Given the description of an element on the screen output the (x, y) to click on. 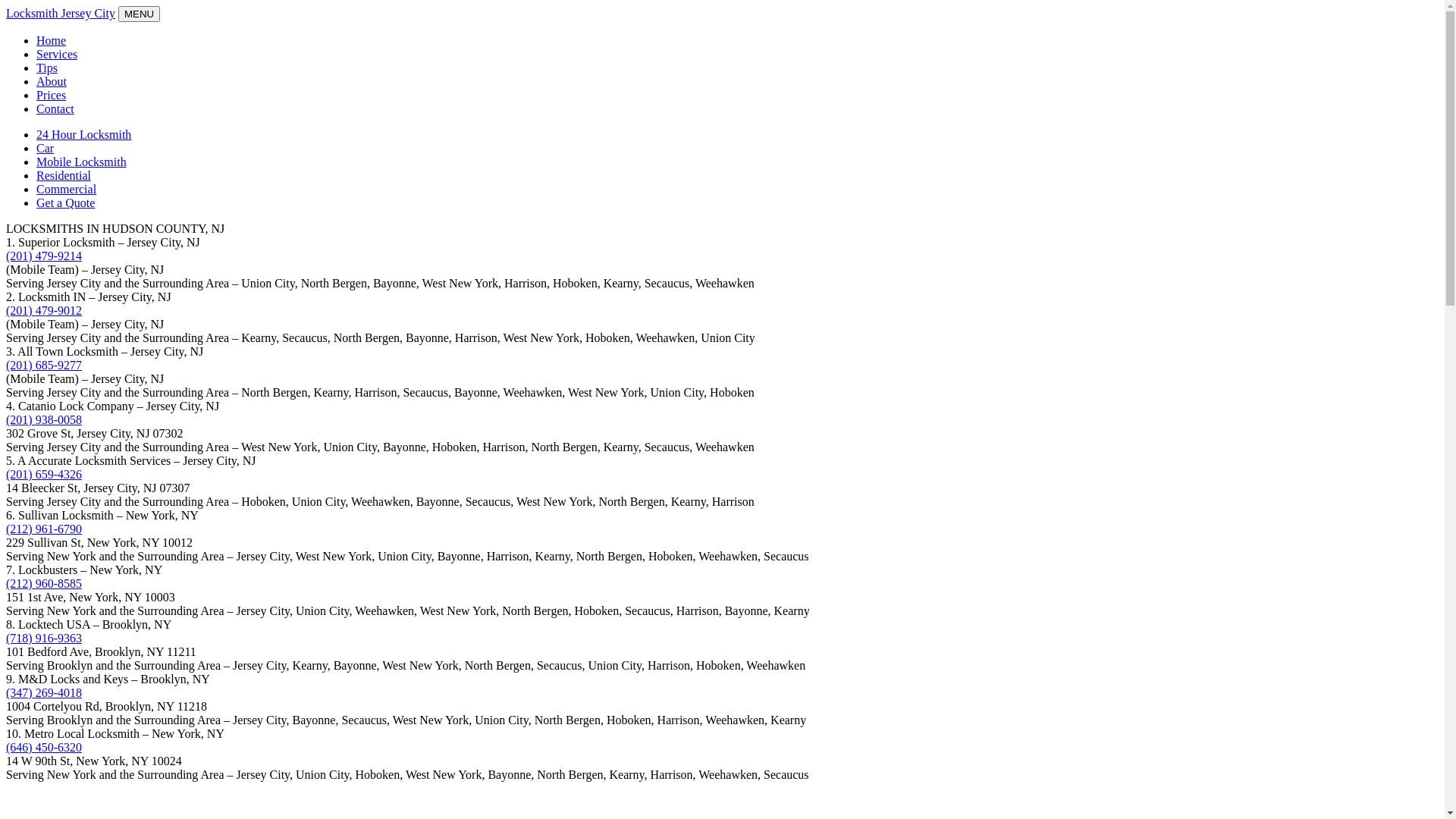
Contact Element type: text (55, 108)
Get a Quote Element type: text (65, 202)
24 Hour Locksmith Element type: text (83, 134)
Car Element type: text (44, 147)
Mobile Locksmith Element type: text (81, 161)
Commercial Element type: text (66, 188)
(201) 479-9214 Element type: text (43, 255)
Services Element type: text (56, 53)
(646) 450-6320 Element type: text (43, 746)
Prices Element type: text (50, 94)
Locksmith Jersey City Element type: text (60, 12)
(212) 960-8585 Element type: text (43, 583)
Home Element type: text (50, 40)
Residential Element type: text (63, 175)
(212) 961-6790 Element type: text (43, 528)
(201) 659-4326 Element type: text (43, 473)
(201) 479-9012 Element type: text (43, 310)
(201) 938-0058 Element type: text (43, 419)
(347) 269-4018 Element type: text (43, 692)
(718) 916-9363 Element type: text (43, 637)
MENU Element type: text (139, 13)
Tips Element type: text (46, 67)
(201) 685-9277 Element type: text (43, 364)
About Element type: text (51, 81)
